Given the description of an element on the screen output the (x, y) to click on. 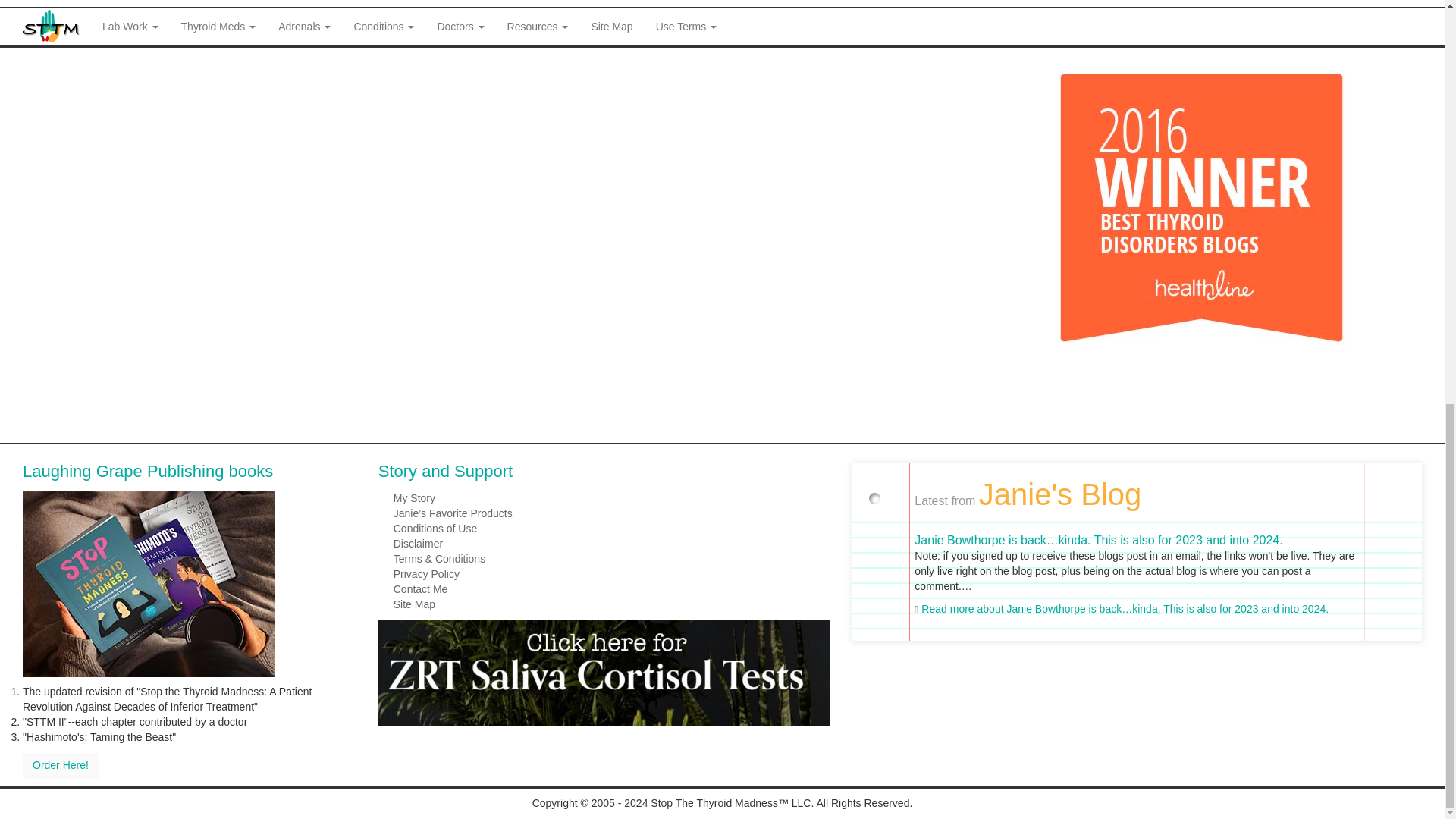
Laughing Grape Publishing (149, 582)
